Given the description of an element on the screen output the (x, y) to click on. 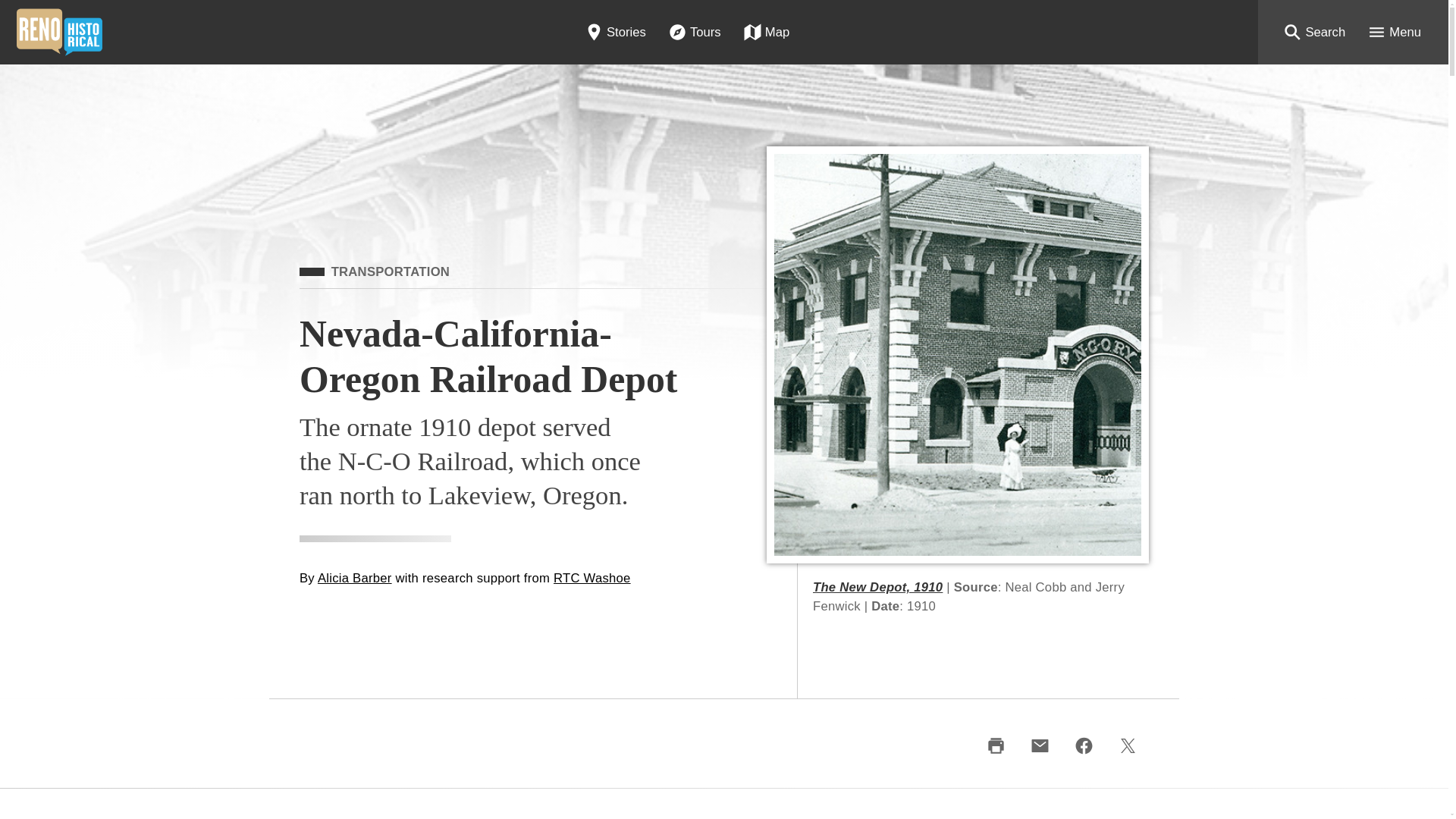
The New Depot, 1910 (877, 586)
Search (1313, 31)
TRANSPORTATION (374, 272)
RTC Washoe (591, 577)
Alicia Barber (354, 577)
Search (1313, 31)
View File Record (877, 586)
Menu (1393, 31)
Subject: Transportation (374, 272)
Menu (1393, 31)
Map (766, 31)
RTC Washoe (591, 577)
email (1039, 745)
facebook (1083, 745)
Stories (615, 31)
